Given the description of an element on the screen output the (x, y) to click on. 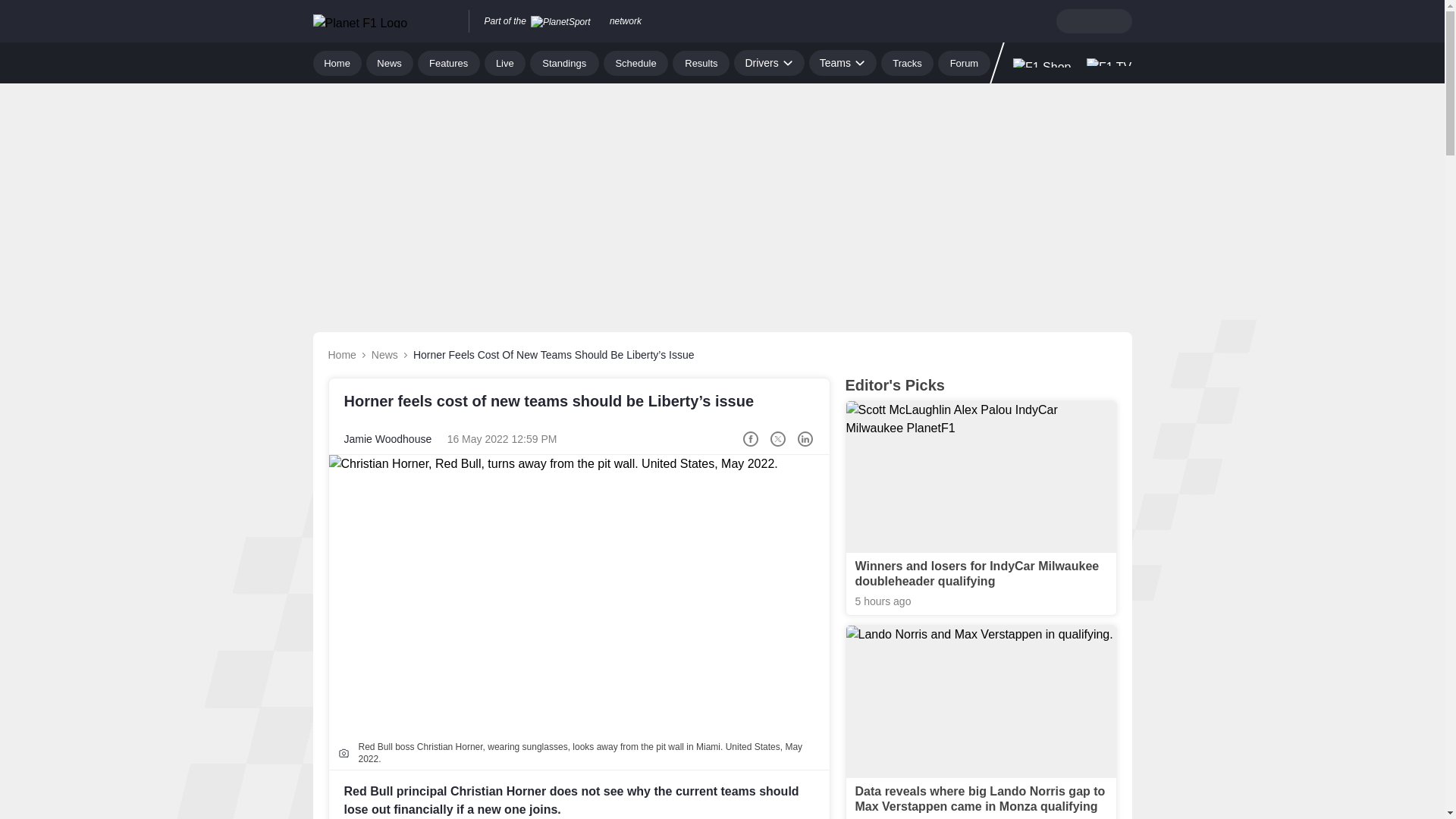
Features (448, 62)
Teams (842, 62)
Drivers (768, 62)
Live (504, 62)
Standings (563, 62)
Results (700, 62)
News (389, 62)
Home (337, 62)
Schedule (636, 62)
